Given the description of an element on the screen output the (x, y) to click on. 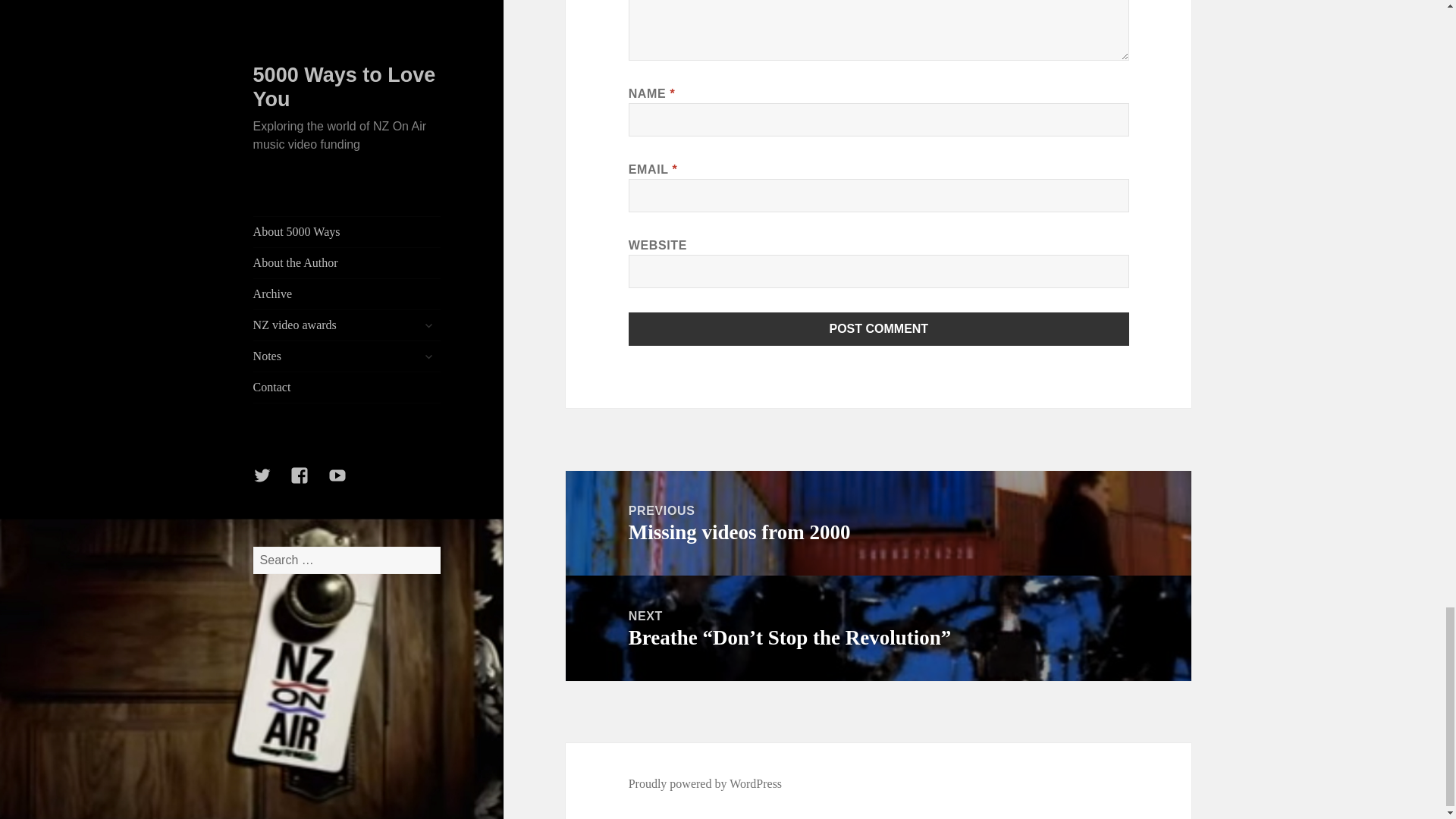
Proudly powered by WordPress (878, 523)
Post Comment (704, 784)
Post Comment (878, 328)
